Given the description of an element on the screen output the (x, y) to click on. 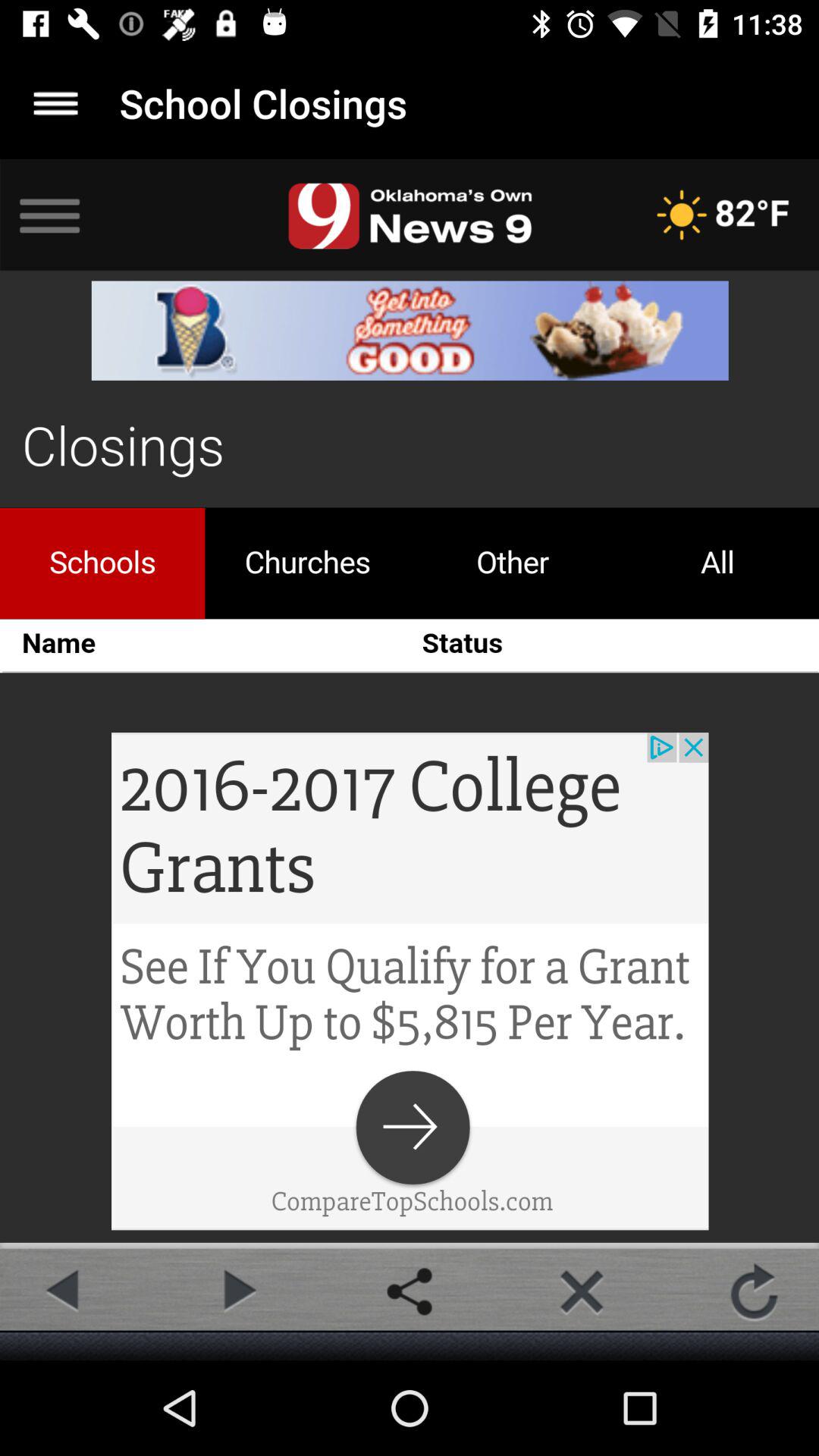
open menu for school closings (55, 103)
